Given the description of an element on the screen output the (x, y) to click on. 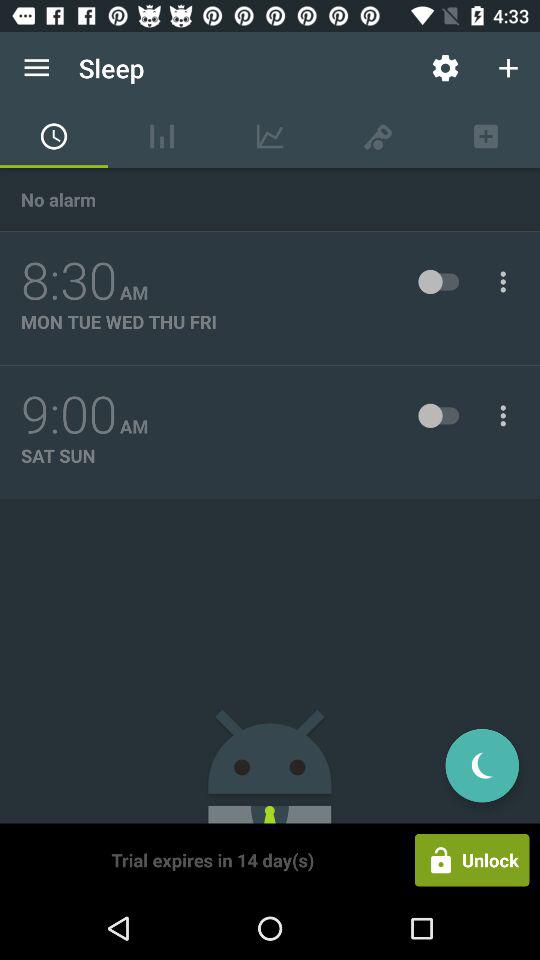
launch the app next to the sleep (444, 67)
